Given the description of an element on the screen output the (x, y) to click on. 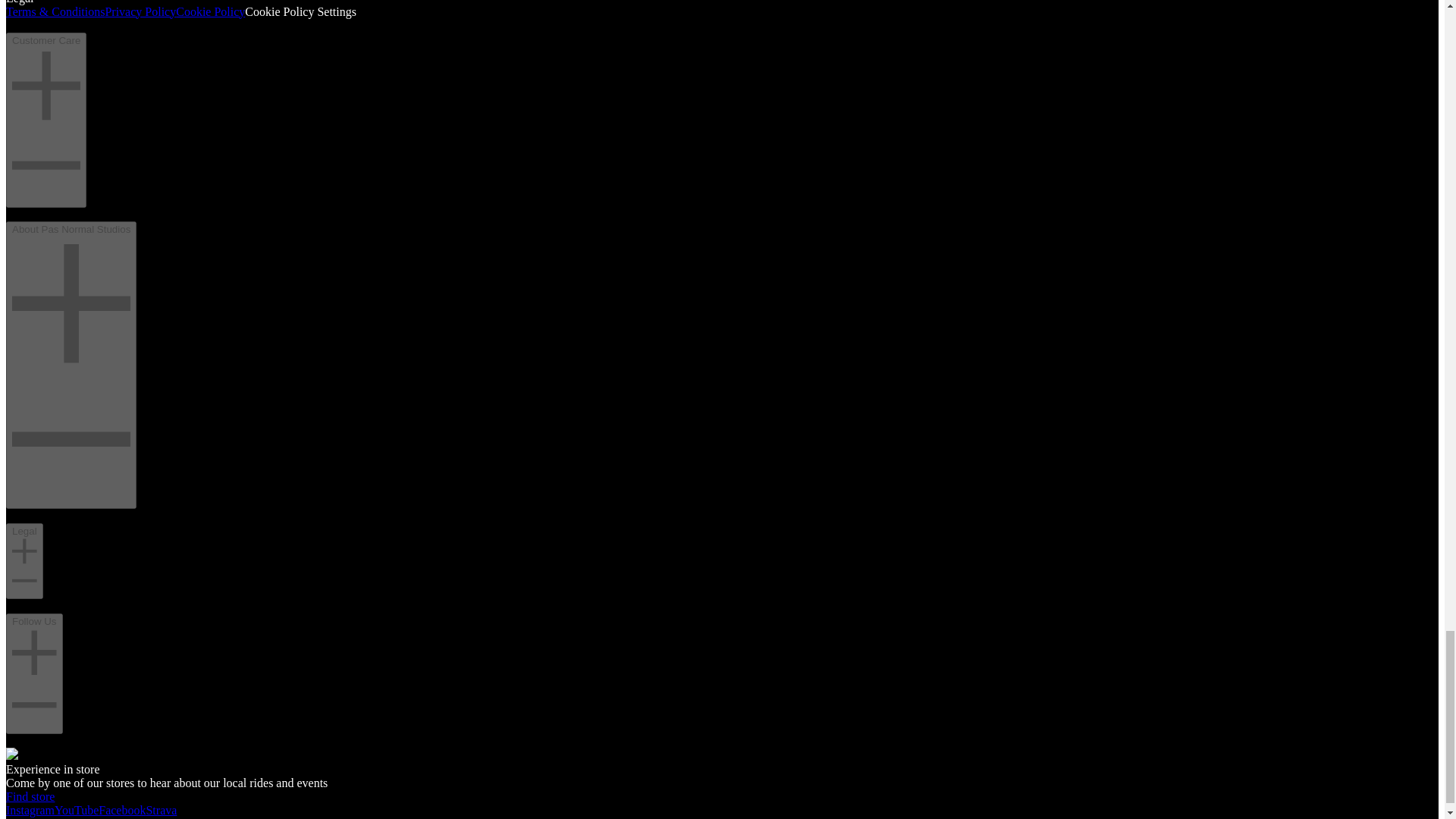
Privacy Policy (140, 11)
About Pas Normal Studios (70, 364)
Cookie Policy (210, 11)
Legal (24, 560)
Customer Care (45, 119)
